Given the description of an element on the screen output the (x, y) to click on. 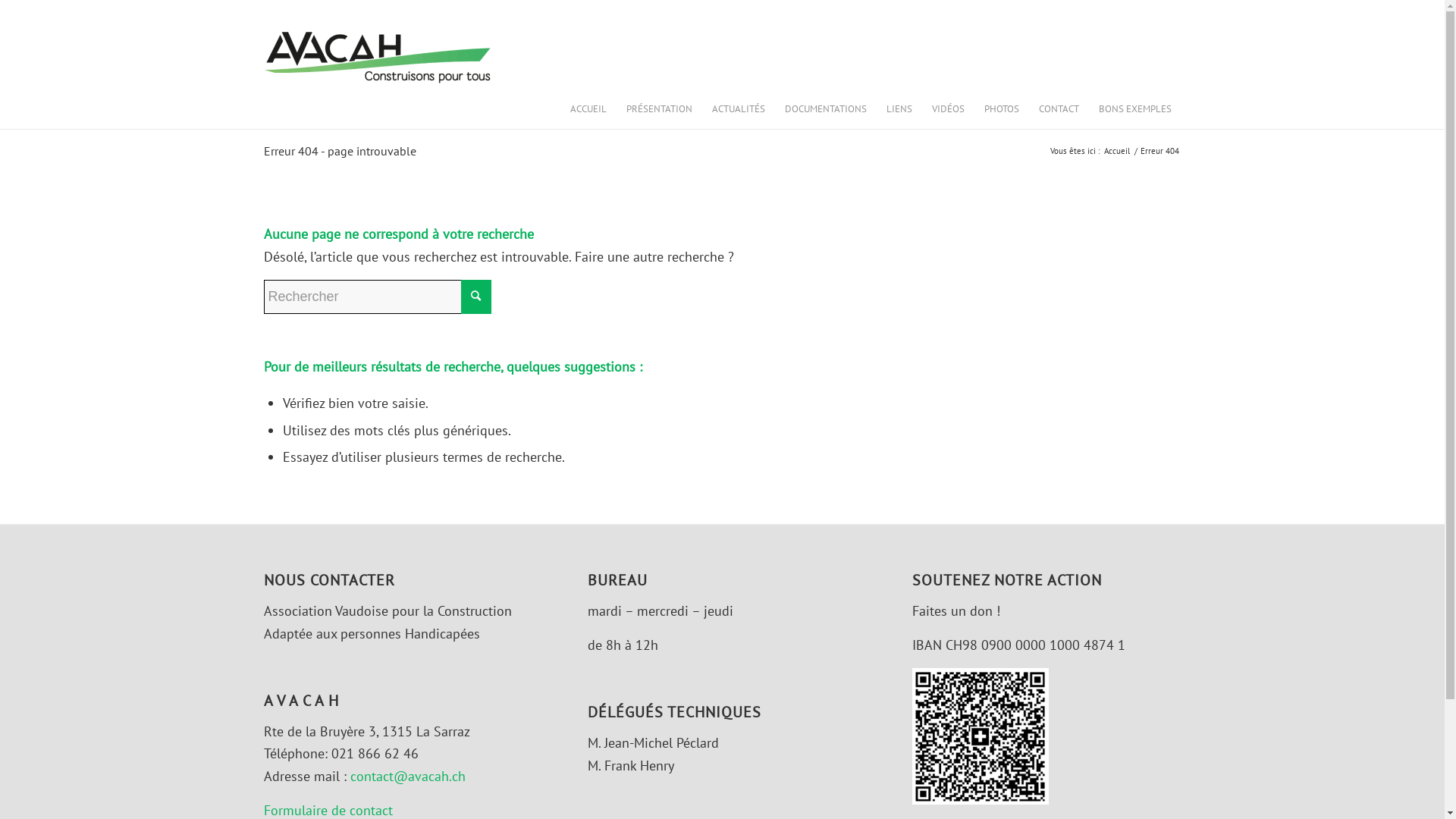
PHOTOS Element type: text (1000, 109)
CONTACT Element type: text (1058, 109)
ACCUEIL Element type: text (587, 109)
LIENS Element type: text (899, 109)
Accueil Element type: text (1116, 150)
DOCUMENTATIONS Element type: text (825, 109)
contact@avacah.ch Element type: text (407, 775)
BONS EXEMPLES Element type: text (1134, 109)
